Given the description of an element on the screen output the (x, y) to click on. 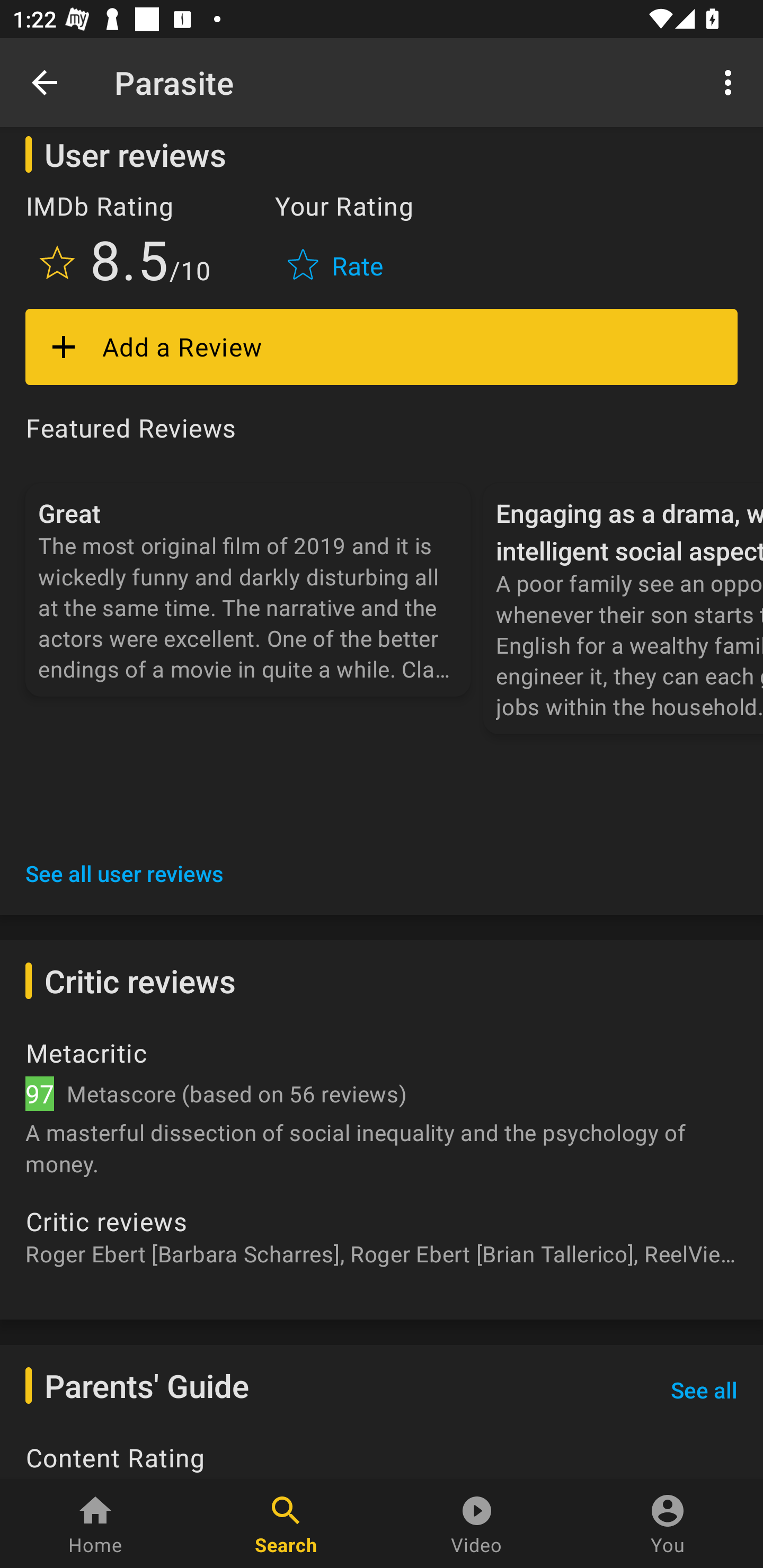
More options (731, 81)
Your Rating Rate (337, 242)
Add a Review (381, 346)
See all user reviews (124, 873)
See all See all  (703, 1389)
Home (95, 1523)
Video (476, 1523)
You (667, 1523)
